Given the description of an element on the screen output the (x, y) to click on. 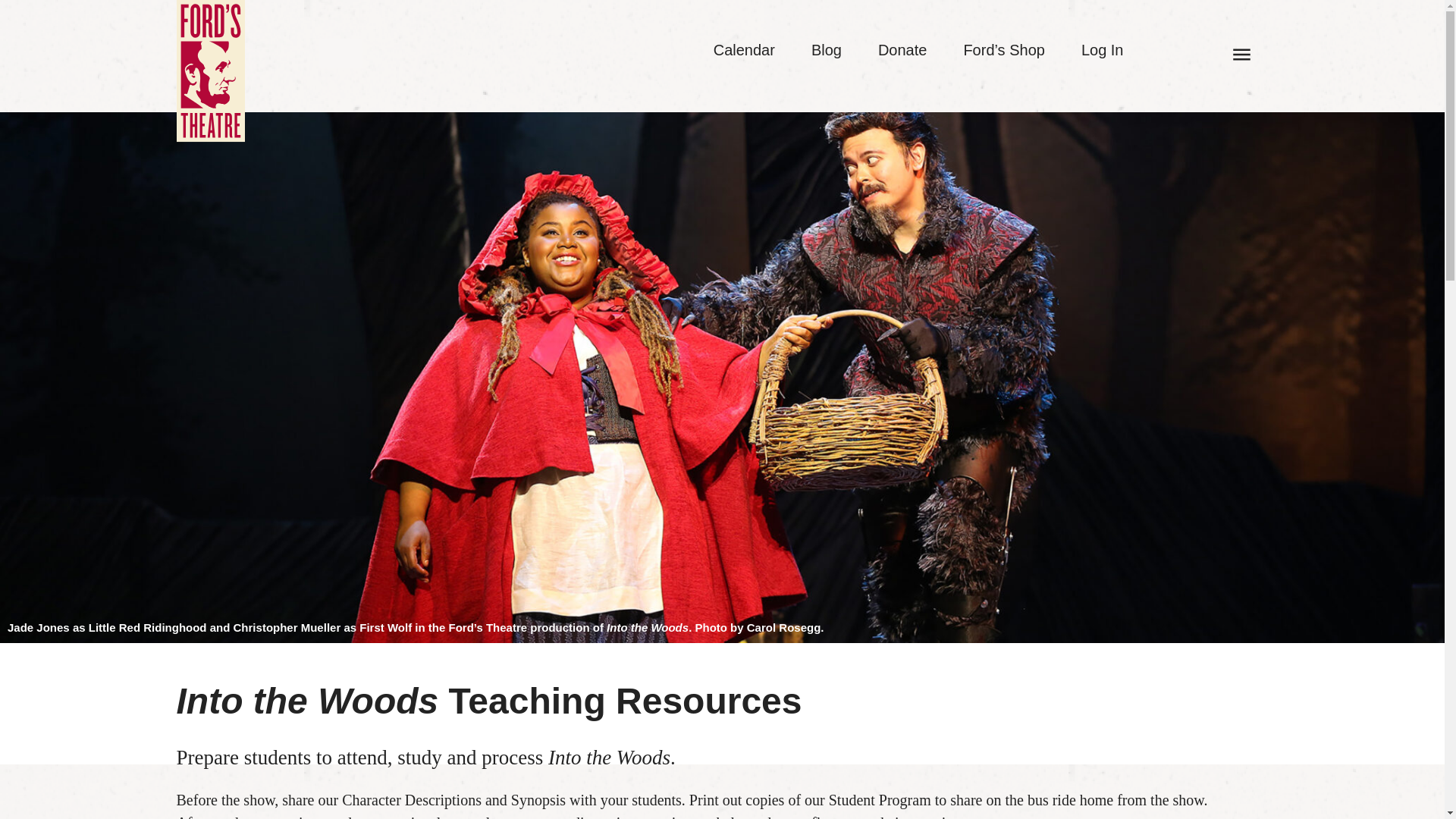
Blog (825, 49)
Log In (1102, 49)
Donate (902, 49)
Open main menu (1241, 54)
Calendar (743, 49)
